Given the description of an element on the screen output the (x, y) to click on. 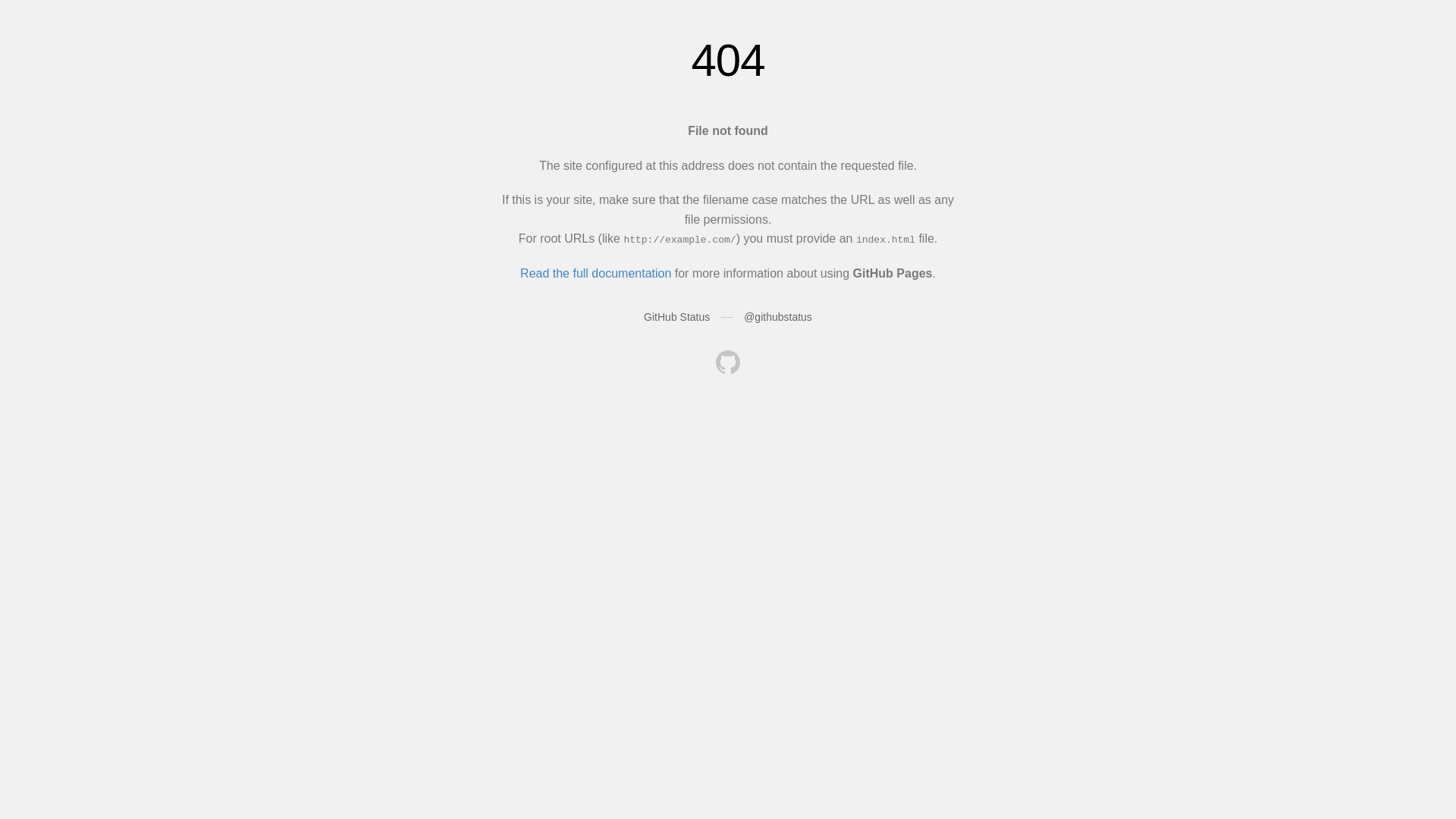
@githubstatus Element type: text (777, 316)
GitHub Status Element type: text (676, 316)
Read the full documentation Element type: text (595, 272)
